Given the description of an element on the screen output the (x, y) to click on. 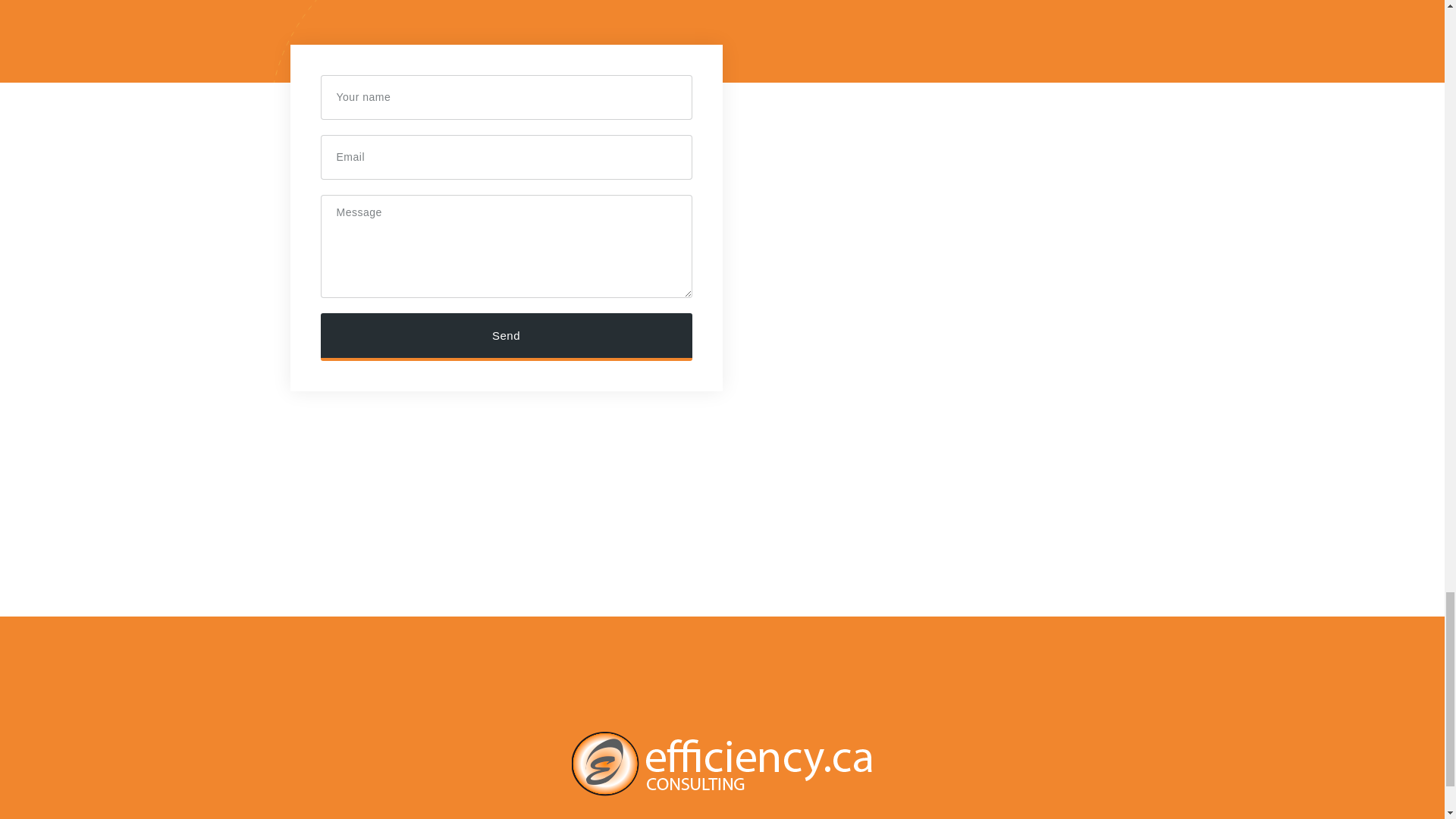
Send (505, 336)
